Given the description of an element on the screen output the (x, y) to click on. 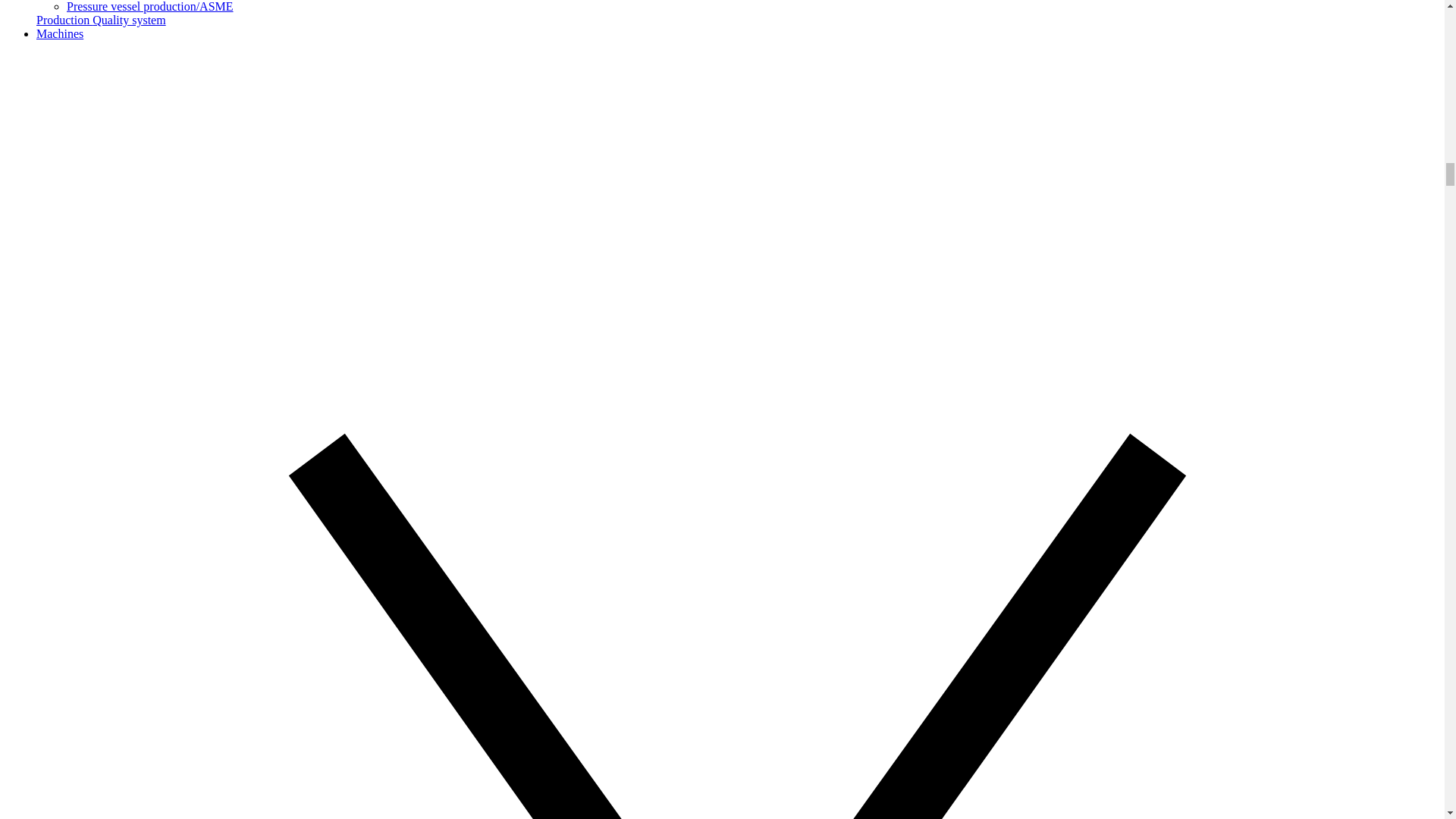
Quality system (129, 19)
Production (64, 19)
